Given the description of an element on the screen output the (x, y) to click on. 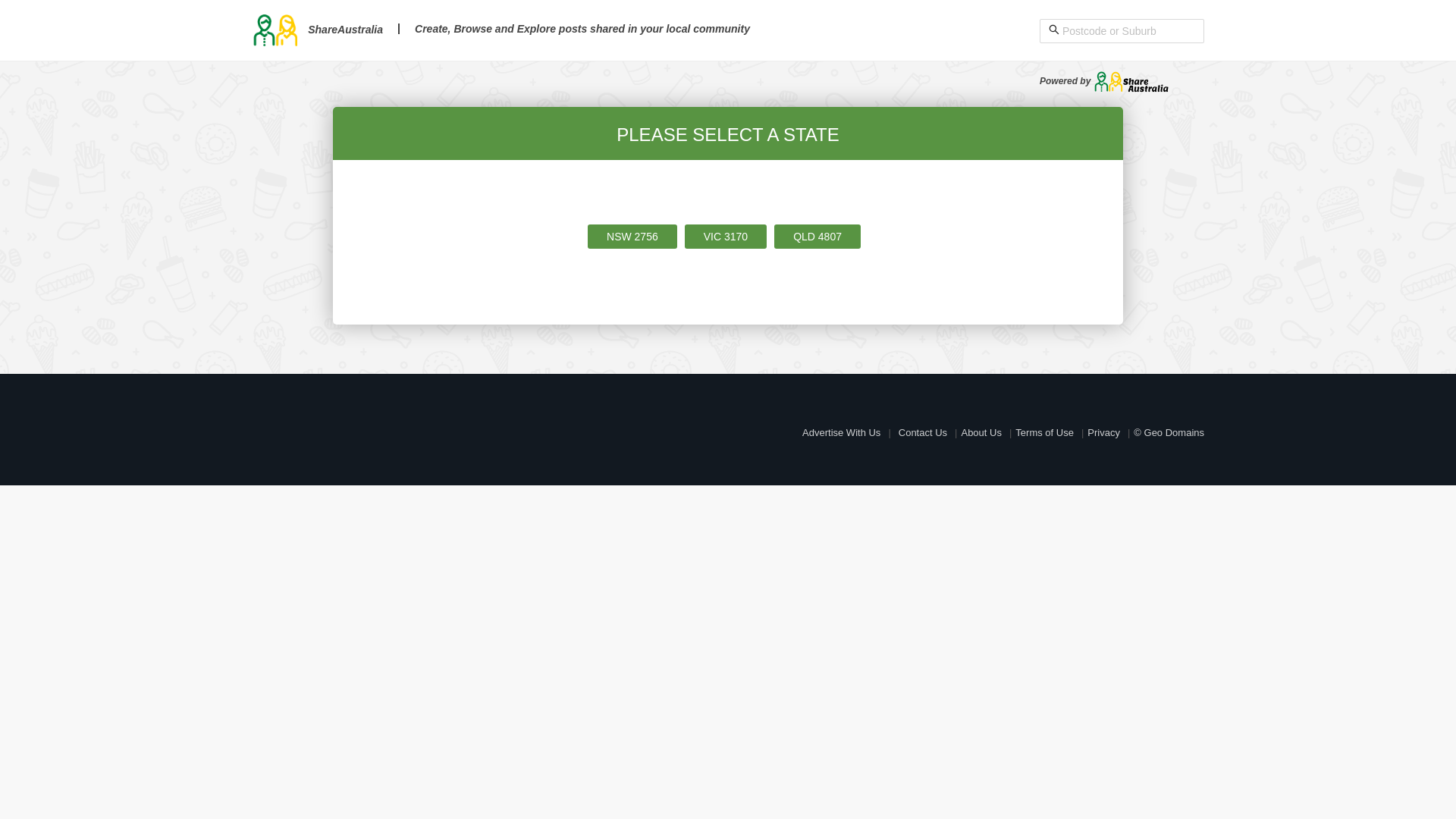
Contact Us Element type: text (922, 432)
NSW 2756 Element type: text (632, 236)
Powered by Element type: text (1104, 80)
ShareAustralia Element type: text (316, 29)
Privacy Element type: text (1103, 432)
Advertise With Us Element type: text (841, 432)
Terms of Use Element type: text (1044, 432)
About Us Element type: text (980, 432)
QLD 4807 Element type: text (817, 236)
VIC 3170 Element type: text (725, 236)
